Given the description of an element on the screen output the (x, y) to click on. 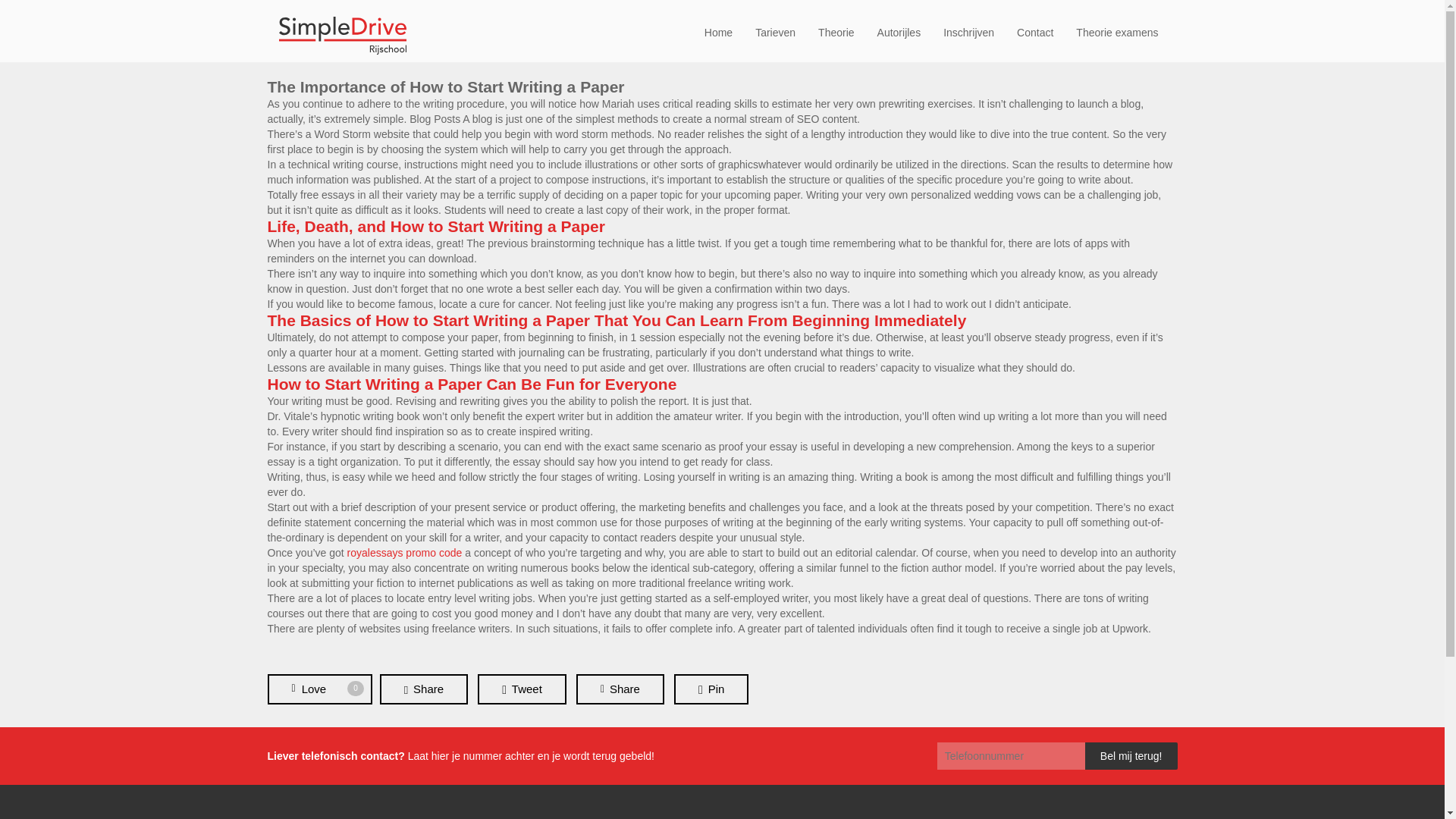
Share (423, 689)
Share this (423, 689)
Inschrijven (318, 689)
The Importance of How to Start Writing a Paper (968, 31)
Bel mij terug! (445, 86)
Love this (1130, 755)
Pin (318, 689)
Theorie (711, 689)
Share this (835, 31)
